Given the description of an element on the screen output the (x, y) to click on. 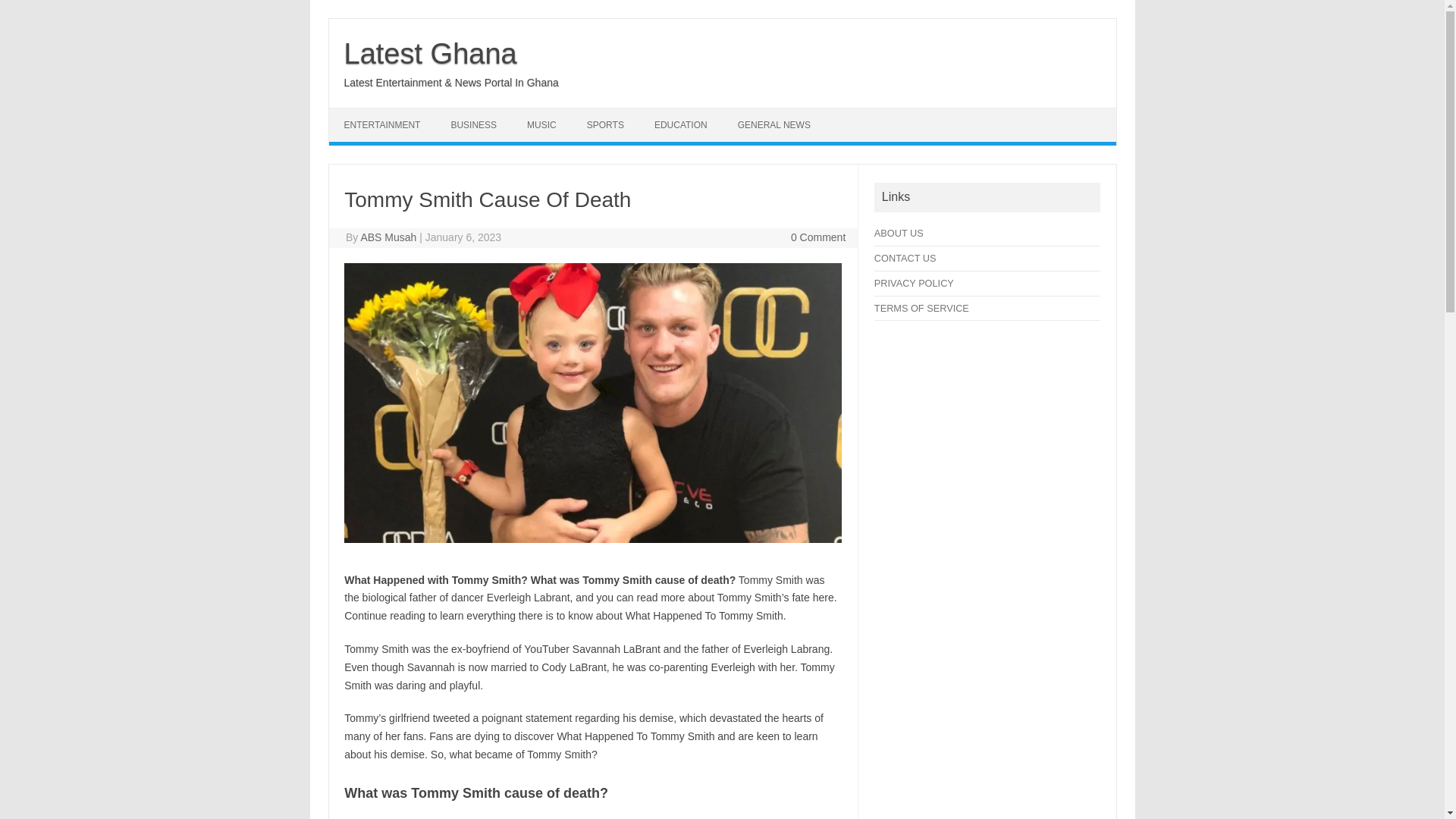
PRIVACY POLICY (914, 283)
ABS Musah (387, 236)
EDUCATION (680, 124)
MUSIC (542, 124)
GENERAL NEWS (773, 124)
0 Comment (817, 236)
CONTACT US (905, 257)
BUSINESS (473, 124)
Posts by ABS Musah (387, 236)
Latest Ghana (429, 53)
ENTERTAINMENT (382, 124)
TERMS OF SERVICE (922, 307)
Latest Ghana (429, 53)
